Given the description of an element on the screen output the (x, y) to click on. 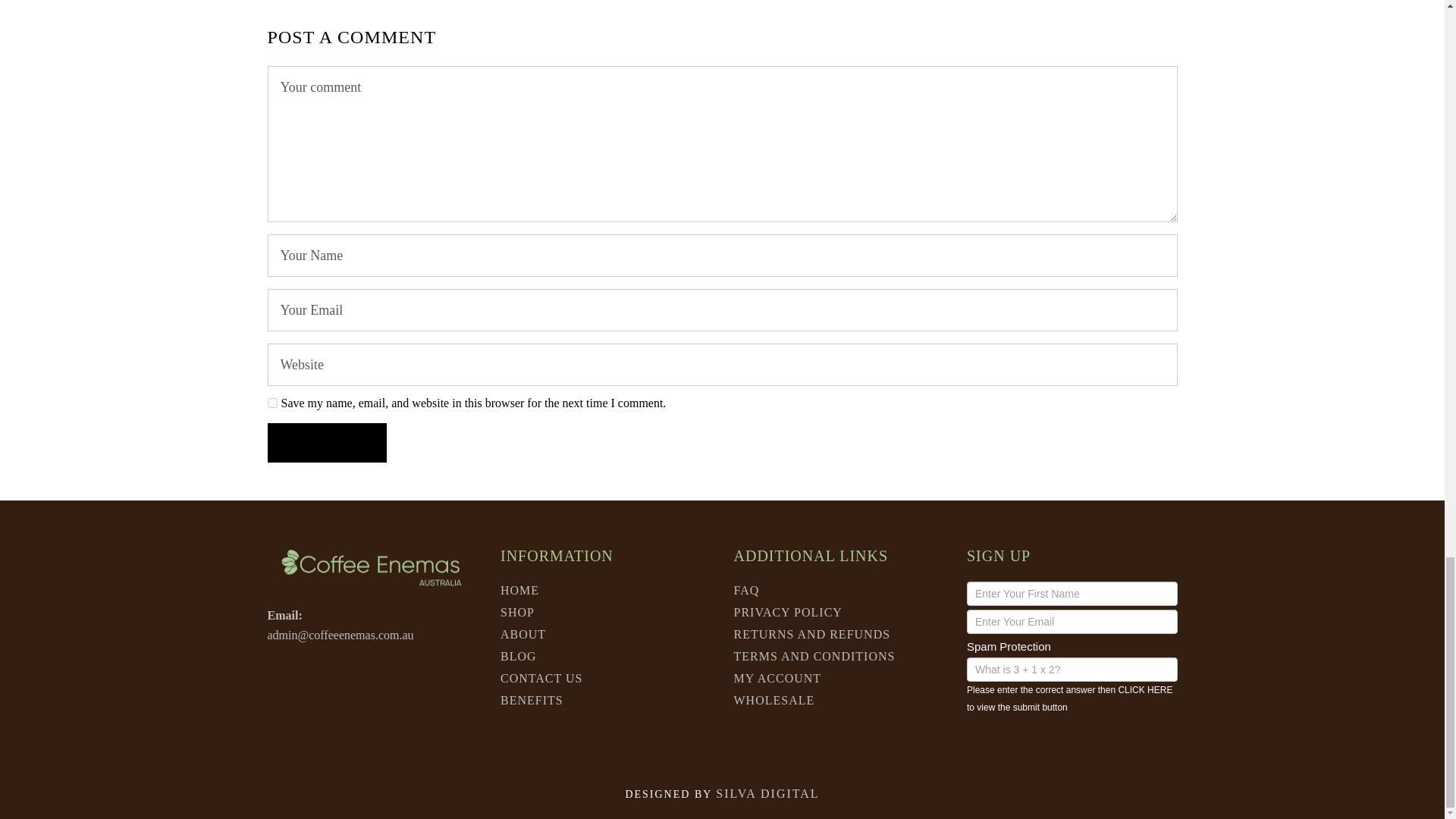
yes (271, 402)
